Given the description of an element on the screen output the (x, y) to click on. 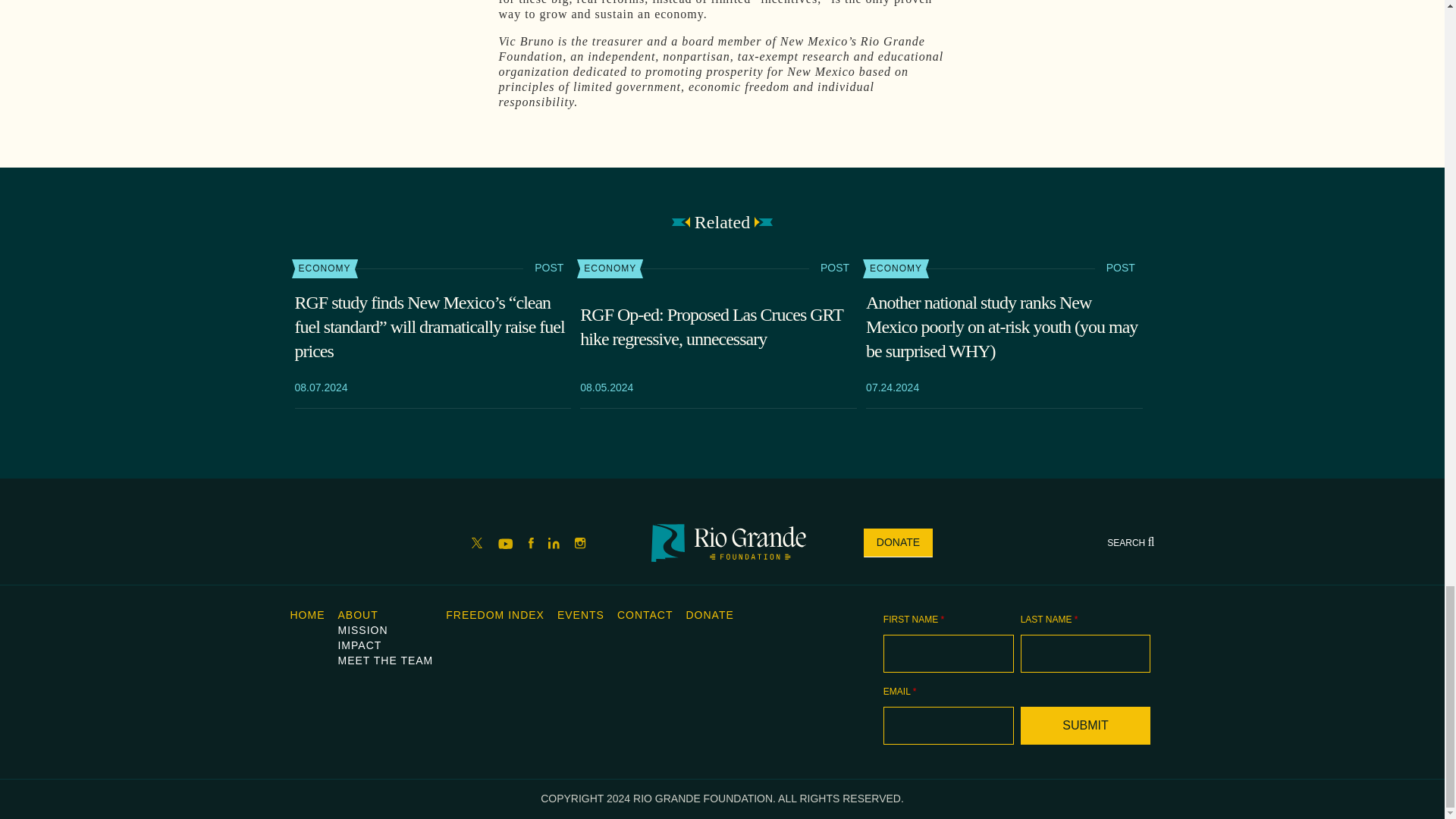
MEET THE TEAM (384, 660)
MISSION (362, 630)
ABOUT (357, 614)
Submit (1085, 725)
DONATE (898, 542)
IMPACT (359, 645)
HOME (306, 614)
SEARCH (1130, 542)
